Given the description of an element on the screen output the (x, y) to click on. 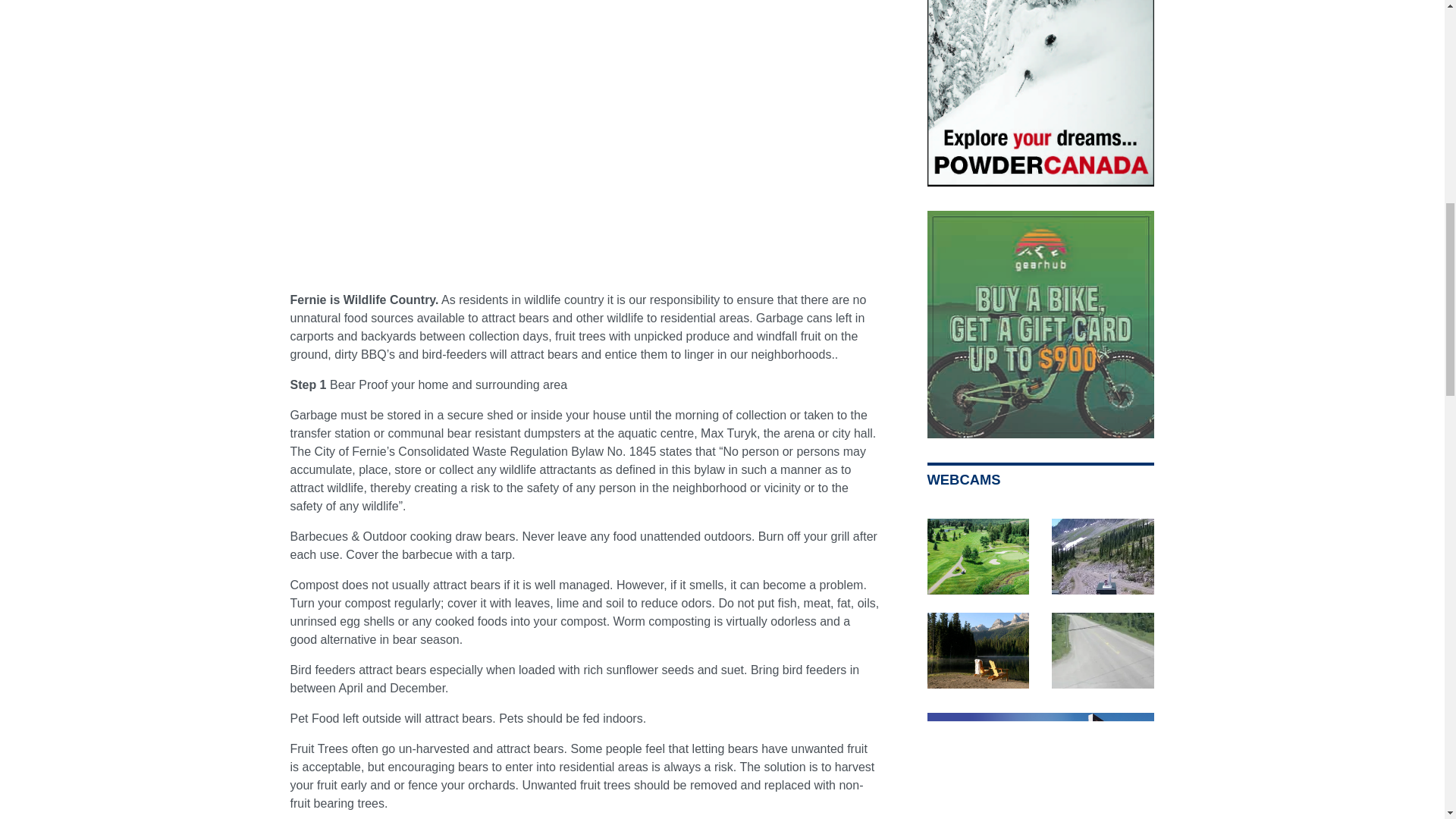
Highway Webcams (1102, 650)
Fernie Alpine Resort Webcams (1102, 556)
Island Lake Lodge (977, 650)
Fernie Golf Club Webcam (977, 556)
